Given the description of an element on the screen output the (x, y) to click on. 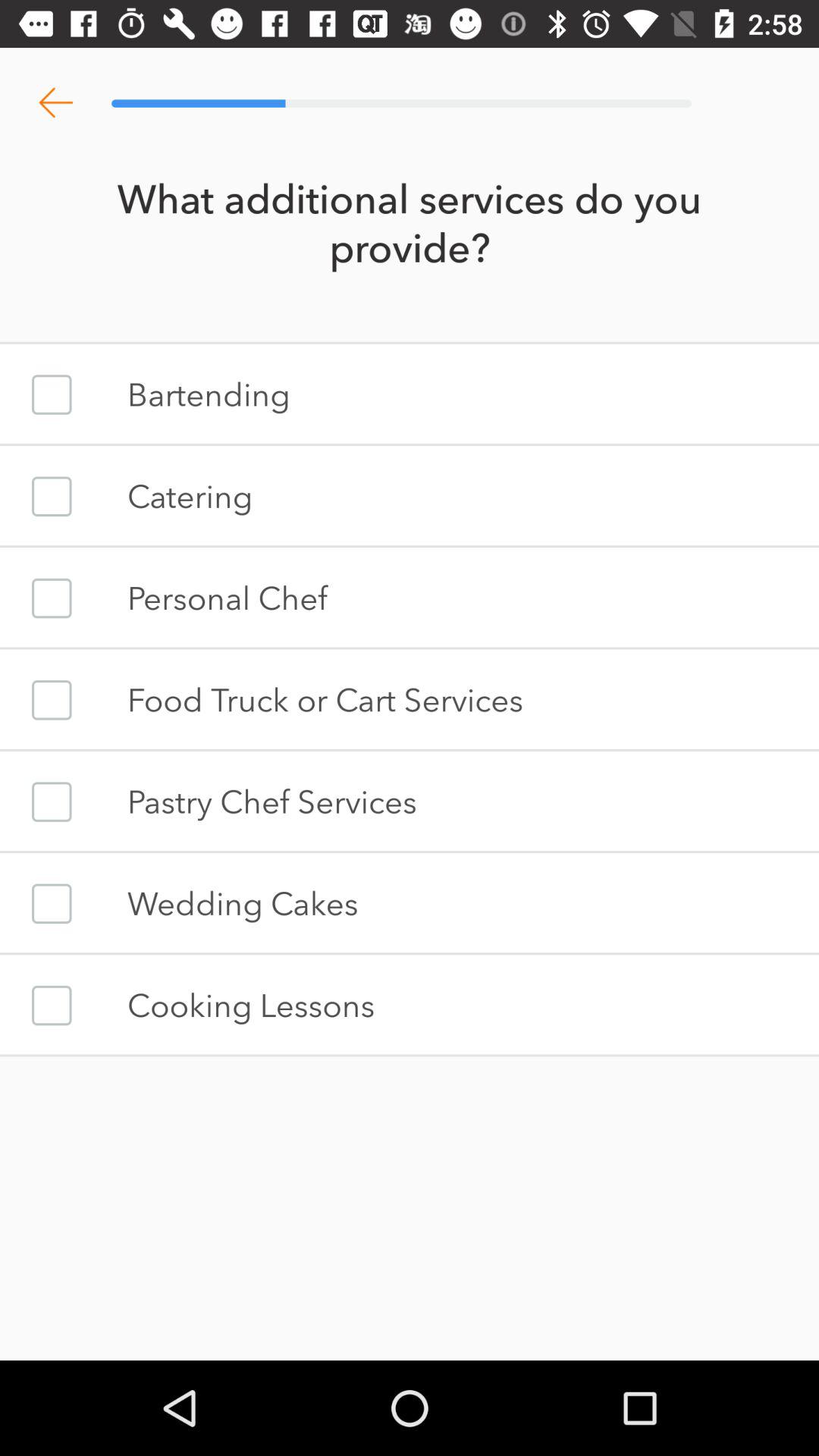
the third check box of the page (51, 597)
checkbox icon left to the text pastry chef services (51, 801)
